Given the description of an element on the screen output the (x, y) to click on. 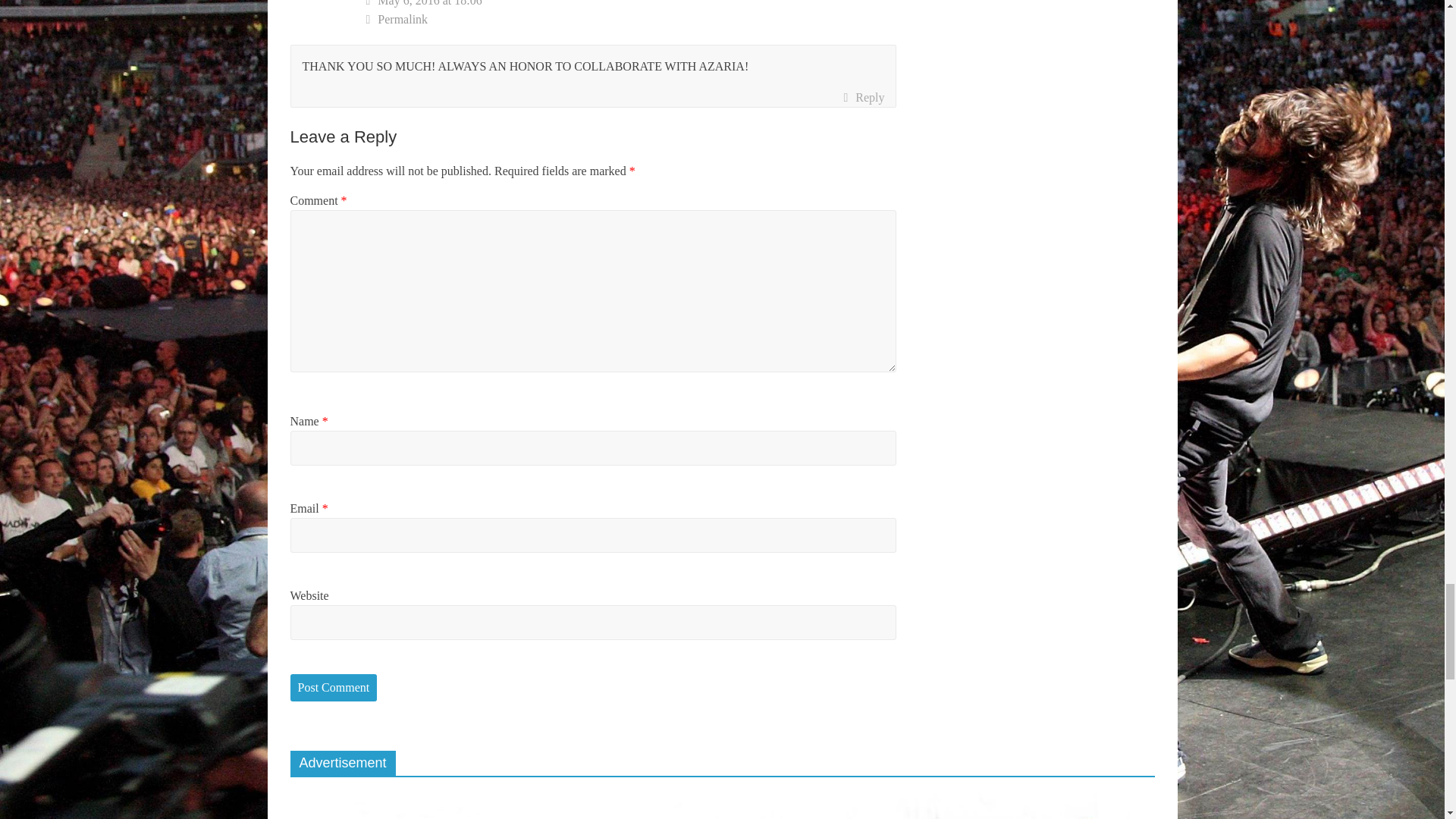
Post Comment (333, 687)
